Given the description of an element on the screen output the (x, y) to click on. 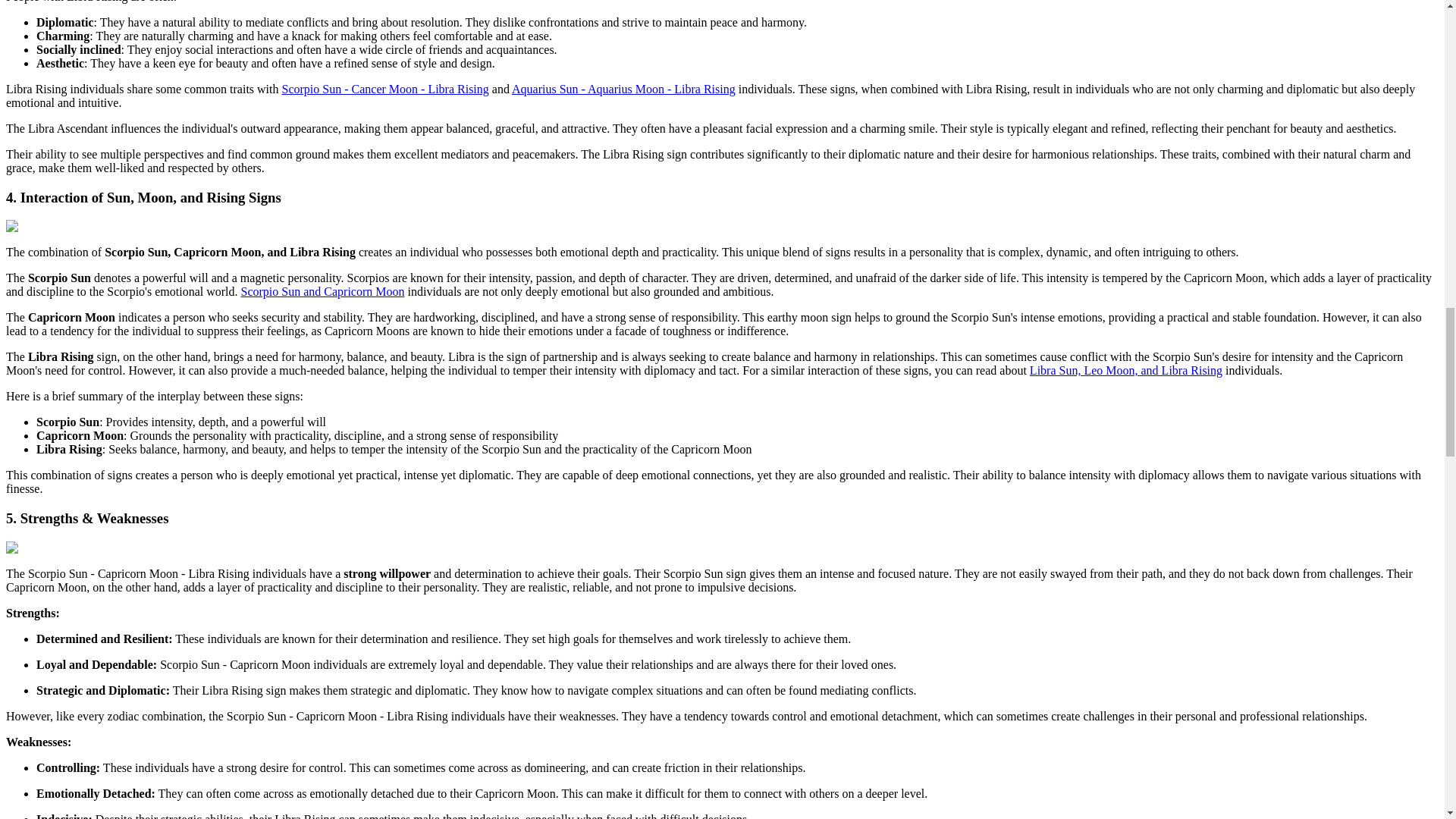
Aquarius Sun - Aquarius Moon - Libra Rising (623, 88)
Libra Sun, Leo Moon, and Libra Rising (1126, 369)
Scorpio Sun - Cancer Moon - Libra Rising (385, 88)
Scorpio Sun and Capricorn Moon (322, 291)
